Given the description of an element on the screen output the (x, y) to click on. 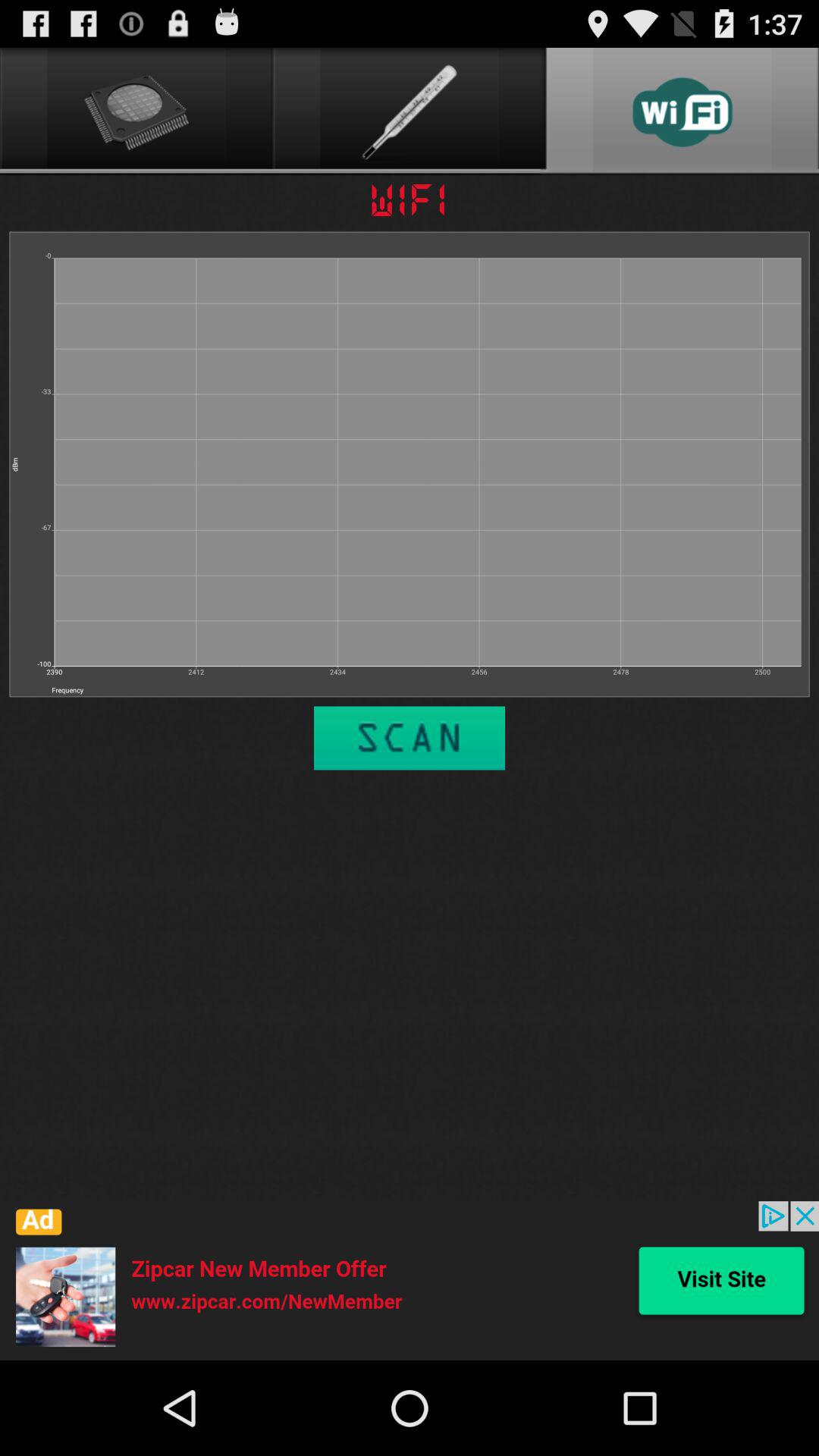
perform a wi fi scan (409, 738)
